Given the description of an element on the screen output the (x, y) to click on. 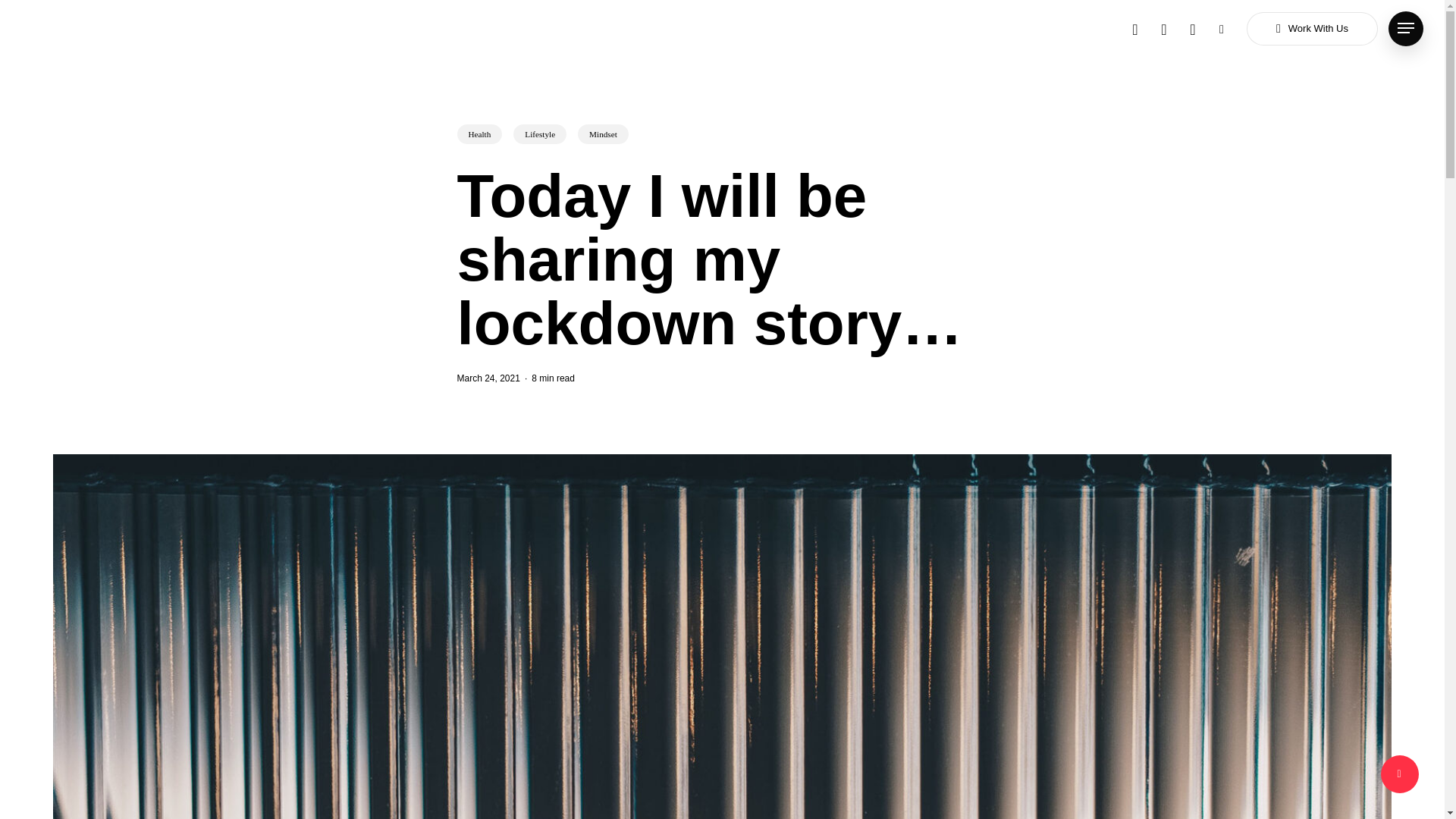
Health (479, 144)
Work With Us (1311, 28)
tiktok (1221, 27)
instagram (1192, 27)
facebook (1135, 27)
Lifestyle (539, 143)
linkedin (1163, 27)
Menu (1406, 28)
Mindset (603, 141)
